Given the description of an element on the screen output the (x, y) to click on. 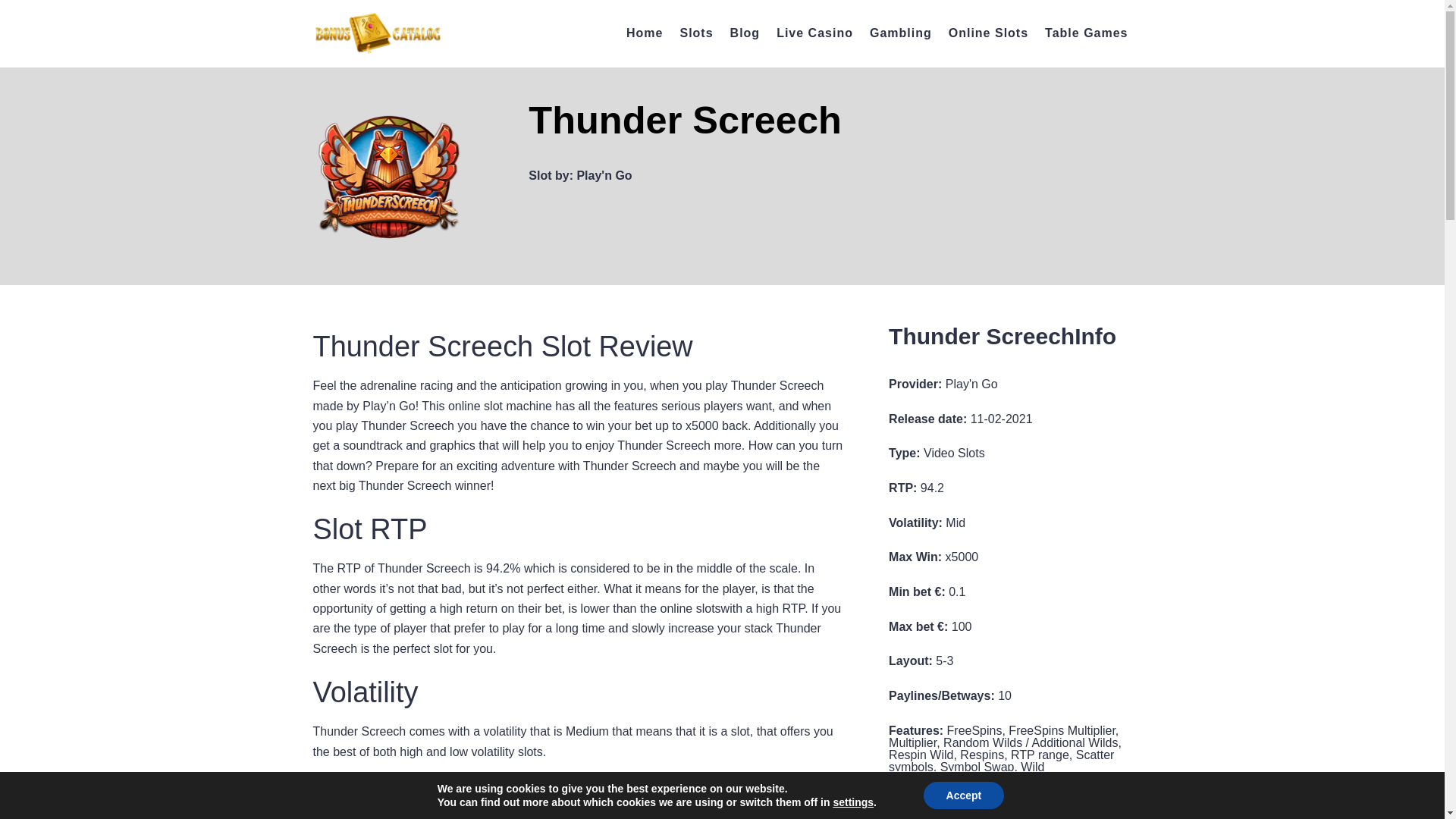
Accept (963, 795)
Live Casino (814, 33)
Blog (745, 33)
Home (644, 33)
Slots (696, 33)
Gambling (900, 33)
Thunder Screech slot logo (388, 177)
Table Games (1085, 33)
Online Slots (988, 33)
